Given the description of an element on the screen output the (x, y) to click on. 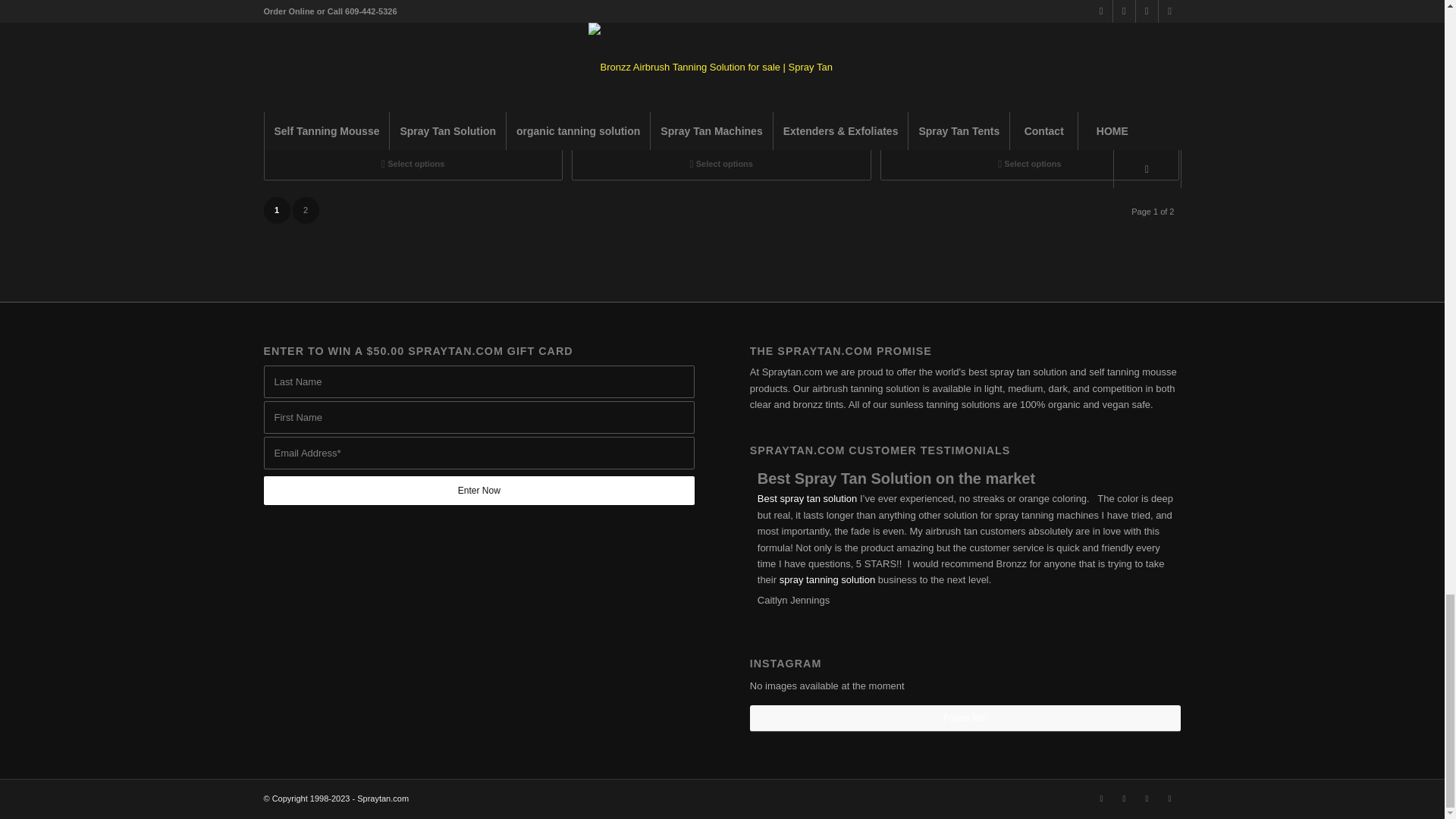
Instagram (1146, 798)
Twitter (1101, 798)
Enter Now (479, 490)
Facebook (1124, 798)
Youtube (1169, 798)
